Given the description of an element on the screen output the (x, y) to click on. 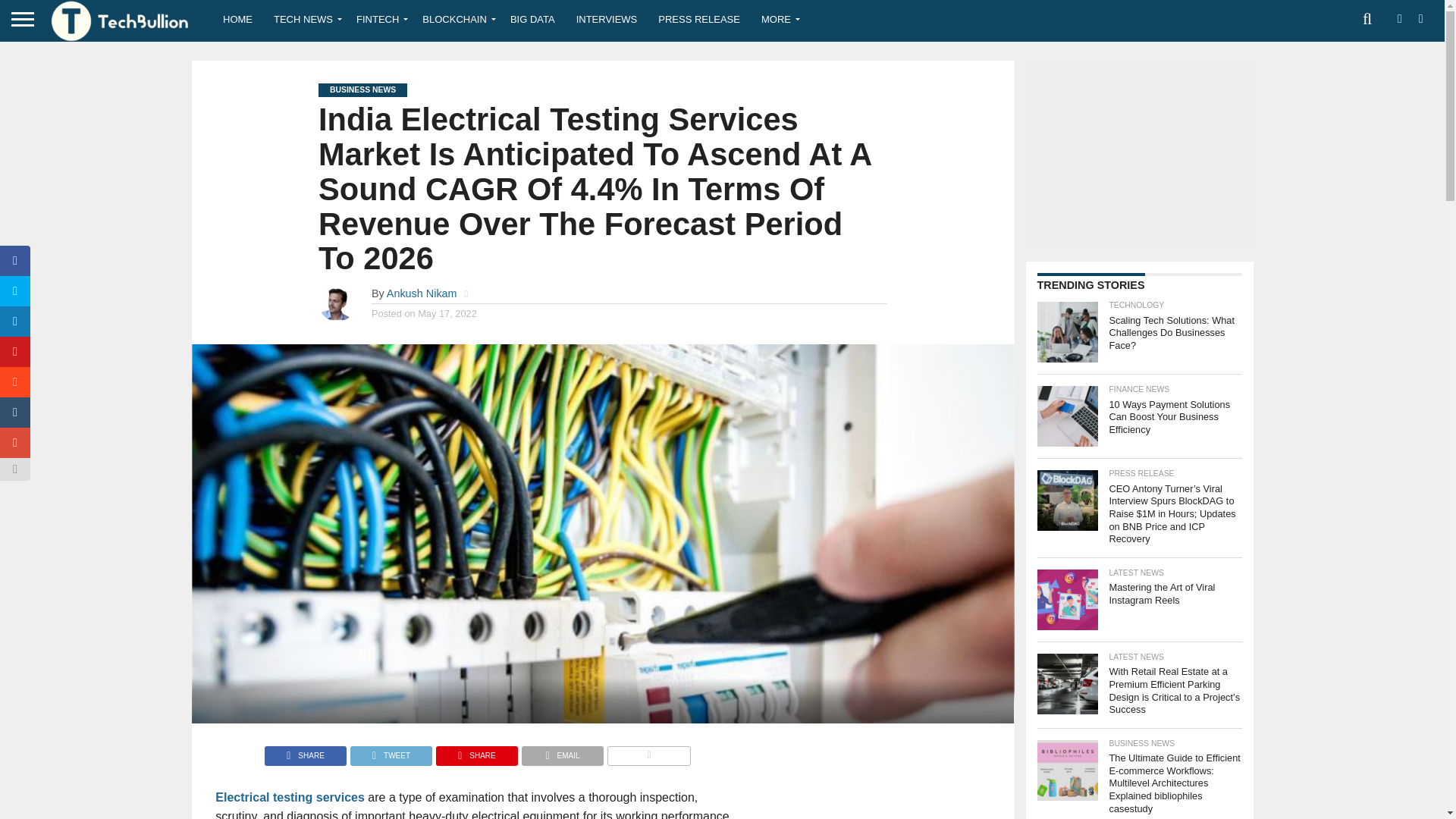
Pin This Post (476, 751)
Tweet This Post (390, 751)
Posts by Ankush Nikam (422, 293)
Share on Facebook (305, 751)
